Given the description of an element on the screen output the (x, y) to click on. 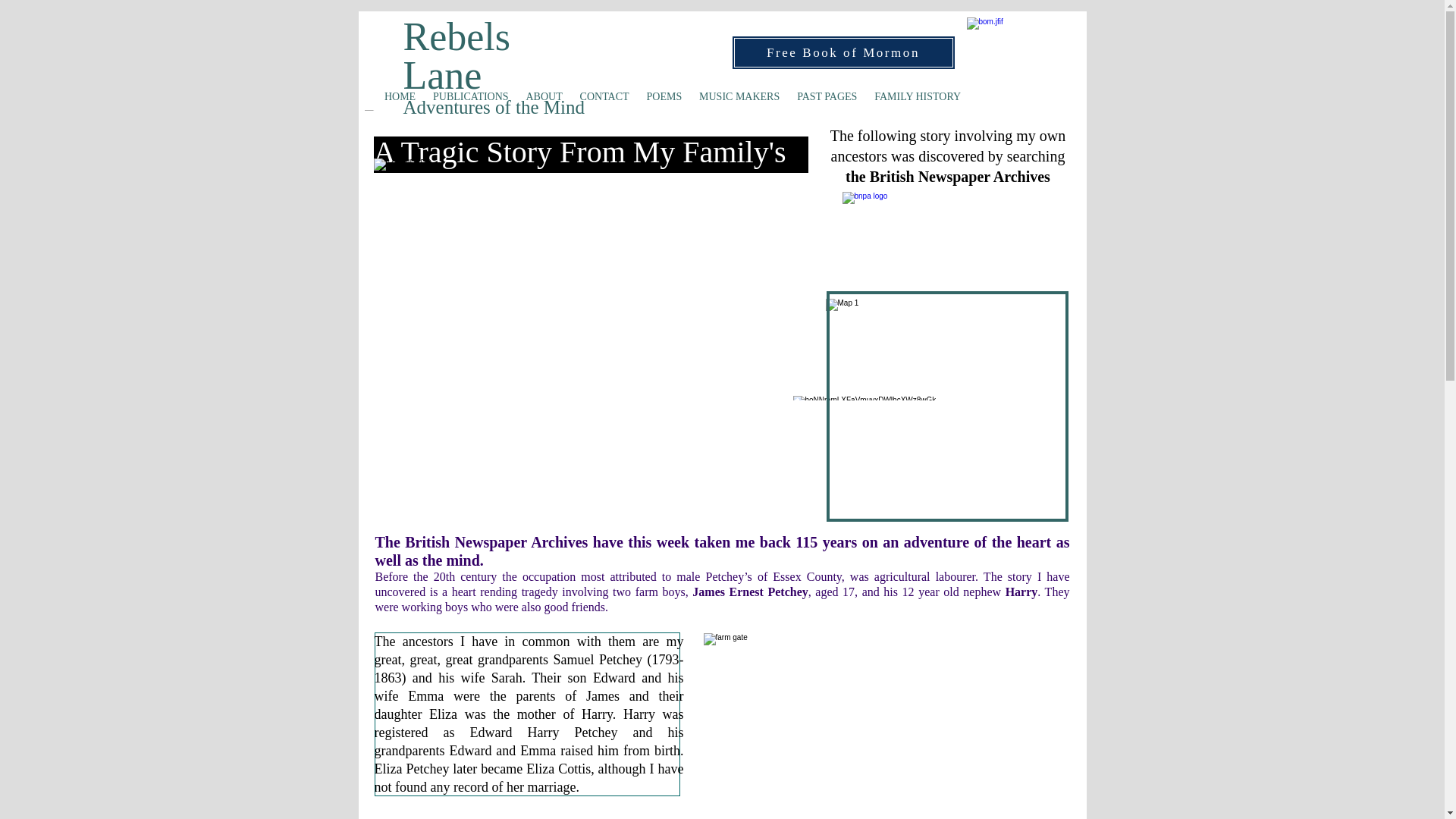
Free Book of Mormon (842, 52)
MUSIC MAKERS (739, 96)
PAST PAGES (827, 96)
CONTACT (603, 96)
ABOUT (543, 96)
PUBLICATIONS (470, 96)
POEMS (663, 96)
HOME (400, 96)
FAMILY HISTORY (917, 96)
